Given the description of an element on the screen output the (x, y) to click on. 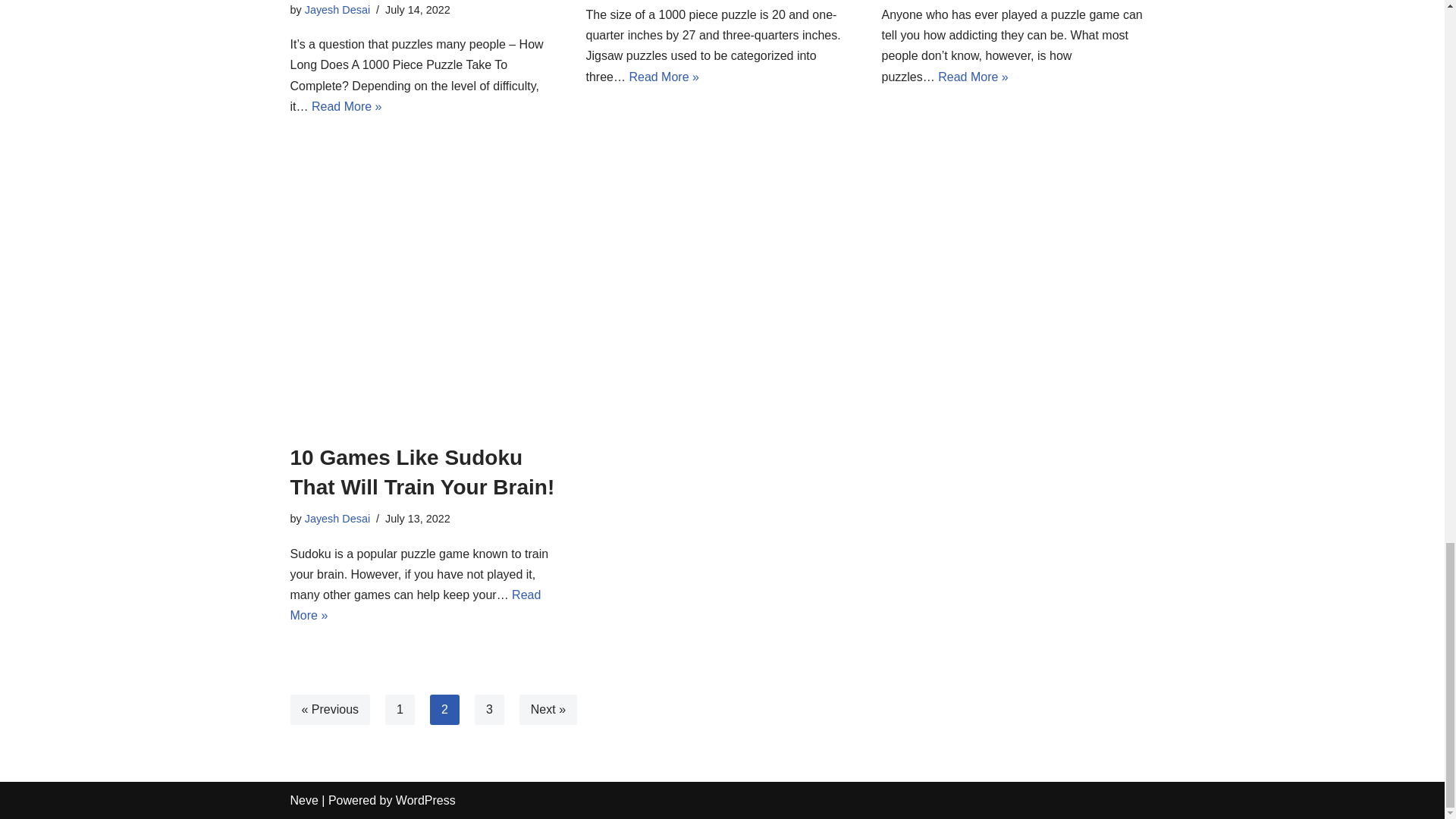
Posts by Jayesh Desai (336, 9)
